Given the description of an element on the screen output the (x, y) to click on. 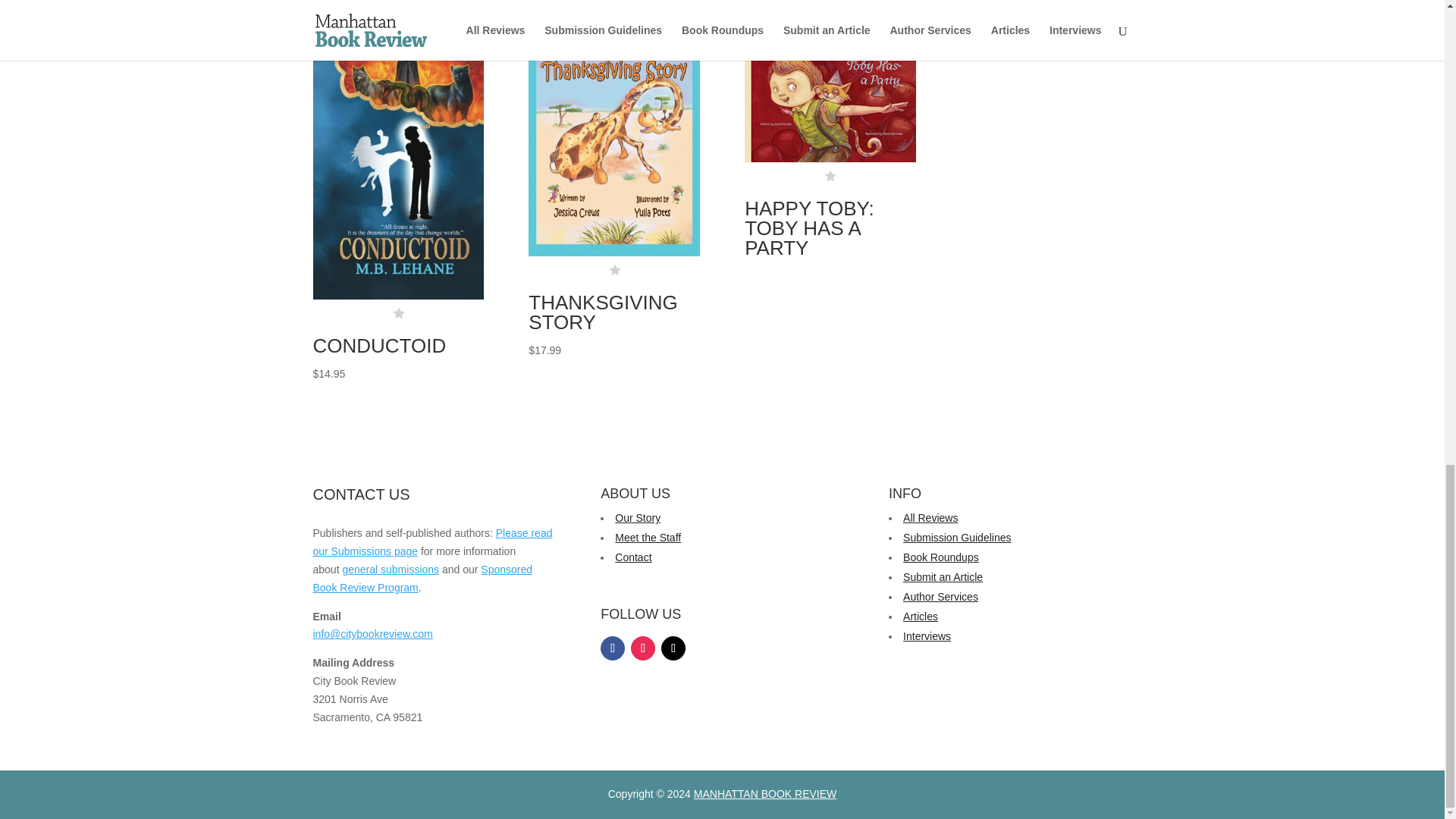
Sponsored Book Review Program (422, 578)
Please read our Submissions page (432, 542)
general submissions (390, 569)
Meet the Staff (647, 537)
Our Story (637, 517)
Contact (632, 557)
